Given the description of an element on the screen output the (x, y) to click on. 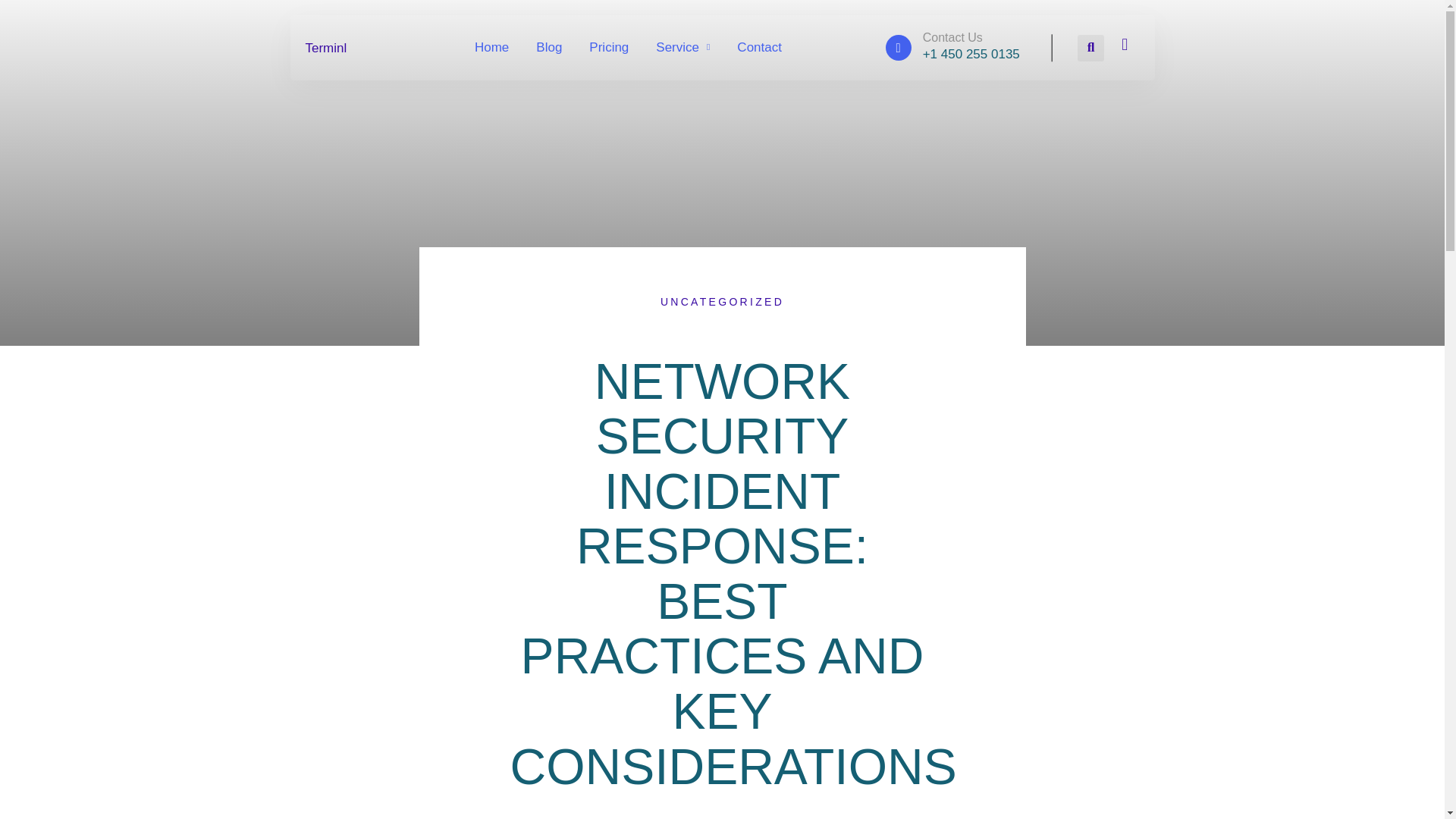
Contact (758, 47)
Home (491, 47)
Service (683, 47)
Pricing (608, 47)
